Given the description of an element on the screen output the (x, y) to click on. 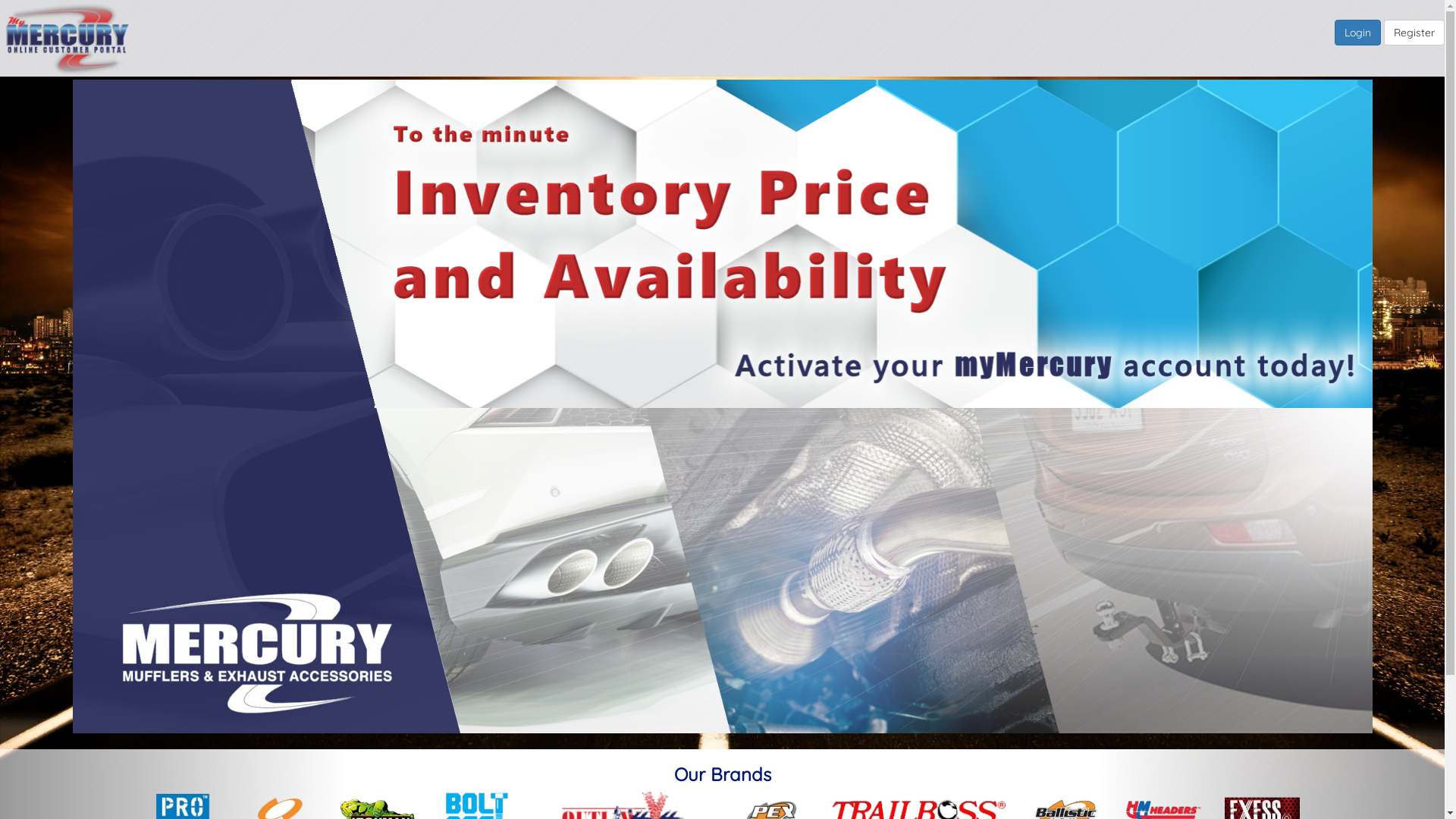
Login Element type: text (1357, 32)
Register Element type: text (1413, 32)
